Given the description of an element on the screen output the (x, y) to click on. 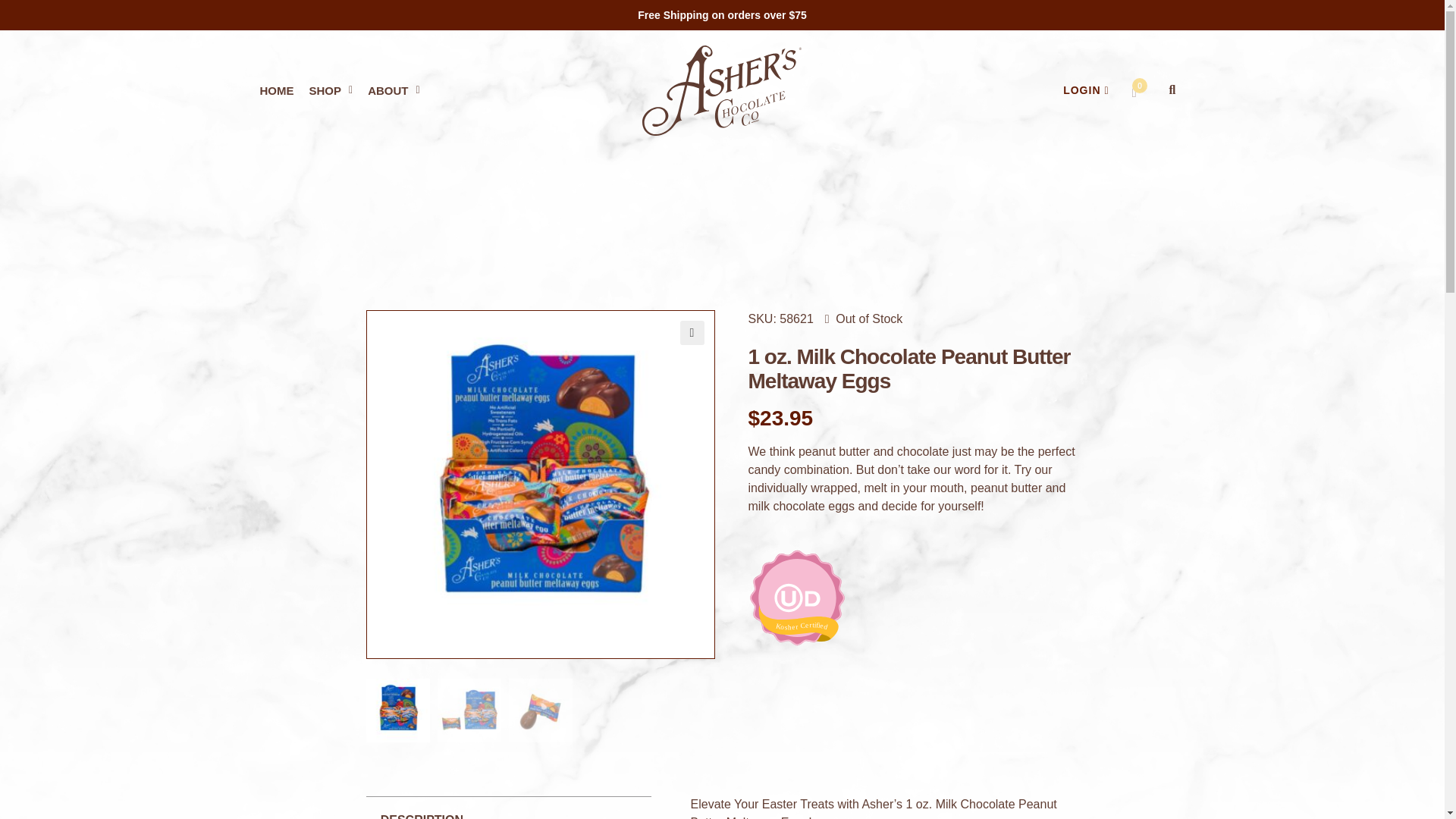
SHOP (330, 90)
HOME (276, 90)
PB-Melt-IWP-2 (887, 484)
PB-Melt-IWP-1 (540, 484)
